Given the description of an element on the screen output the (x, y) to click on. 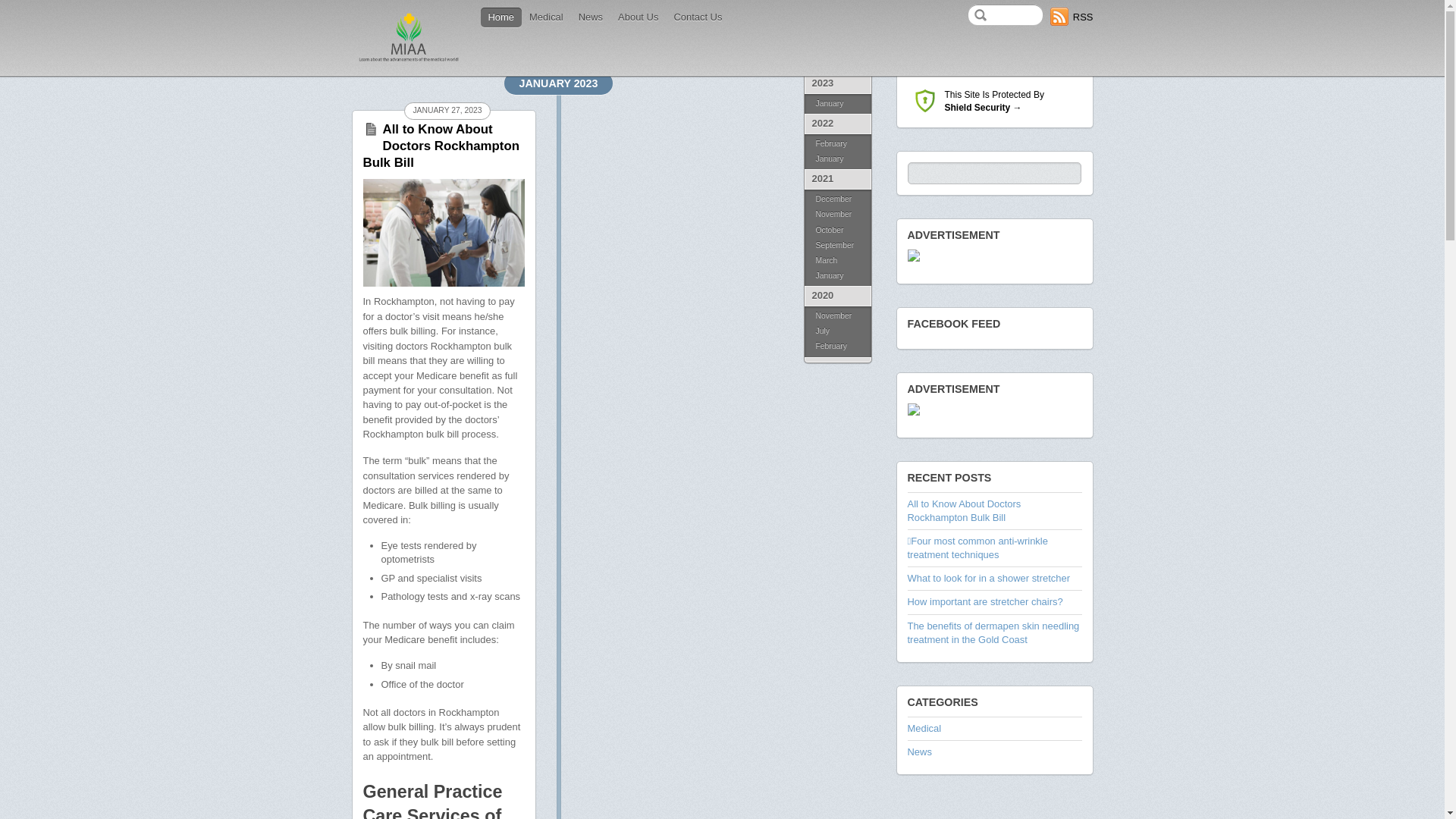
MIAA Element type: hover (408, 37)
All to Know About Doctors Rockhampton Bulk Bill Element type: text (440, 145)
Medical Element type: text (923, 728)
Medical Element type: text (546, 17)
2020 Element type: text (836, 295)
January Element type: text (836, 160)
2021 Element type: text (836, 179)
Search Element type: hover (993, 173)
Home Element type: text (501, 17)
RSS Element type: text (1071, 16)
What to look for in a shower stretcher Element type: text (988, 577)
September Element type: text (836, 245)
January Element type: text (836, 103)
January Element type: text (836, 276)
2023 Element type: text (836, 83)
November Element type: text (836, 314)
News Element type: text (918, 751)
MIAA Element type: hover (408, 61)
February Element type: text (836, 347)
July Element type: text (836, 330)
March Element type: text (836, 260)
Search Element type: hover (1005, 14)
About Us Element type: text (637, 17)
November Element type: text (836, 214)
How important are stretcher chairs? Element type: text (984, 601)
News Element type: text (590, 17)
Contact Us Element type: text (697, 17)
2022 Element type: text (836, 123)
December Element type: text (836, 198)
February Element type: text (836, 142)
October Element type: text (836, 230)
All to Know About Doctors Rockhampton Bulk Bill Element type: text (963, 510)
